Given the description of an element on the screen output the (x, y) to click on. 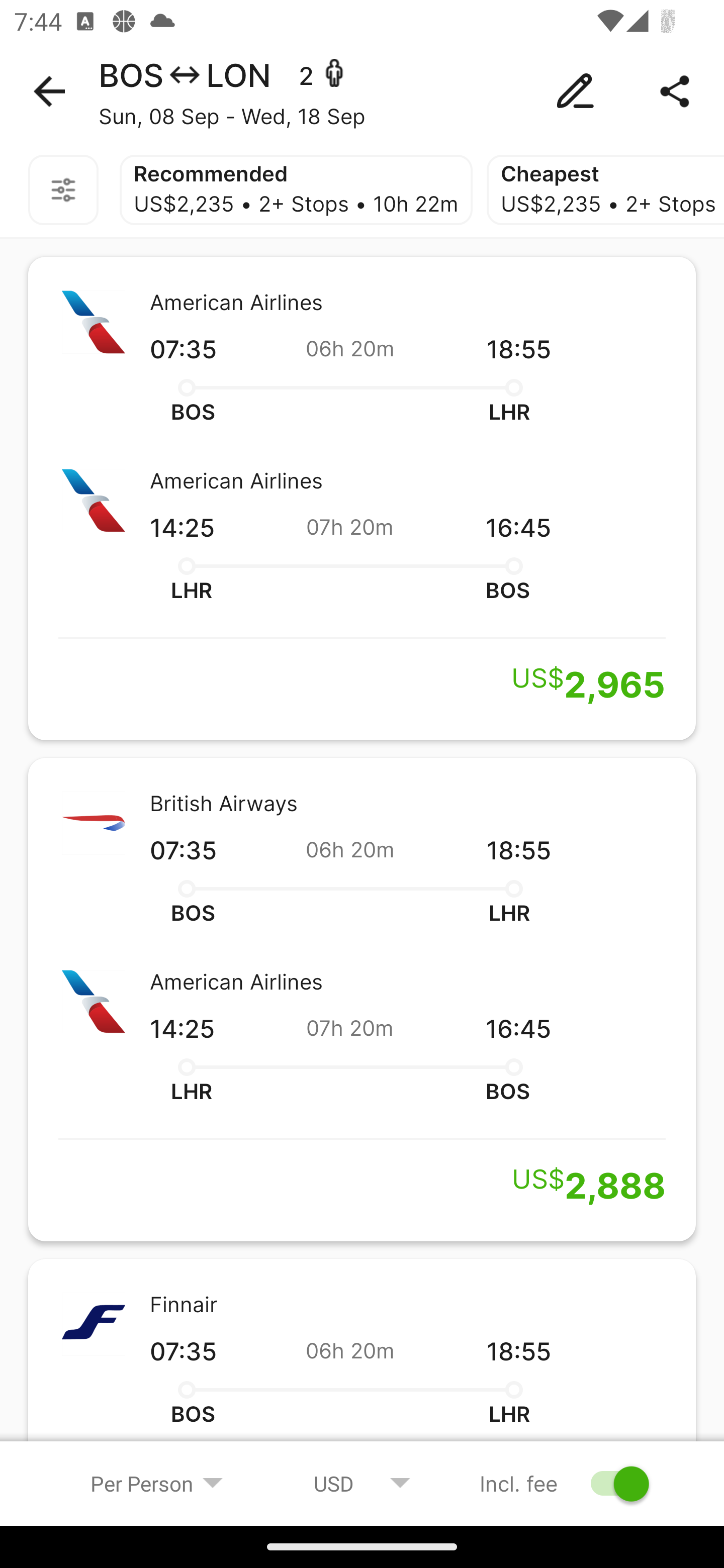
BOS LON   2 - Sun, 08 Sep - Wed, 18 Sep (361, 91)
Recommended  US$2,235 • 2+ Stops • 10h 22m (295, 190)
Cheapest US$2,235 • 2+ Stops • 11h 57m (605, 190)
Per Person (156, 1482)
USD (361, 1482)
